Given the description of an element on the screen output the (x, y) to click on. 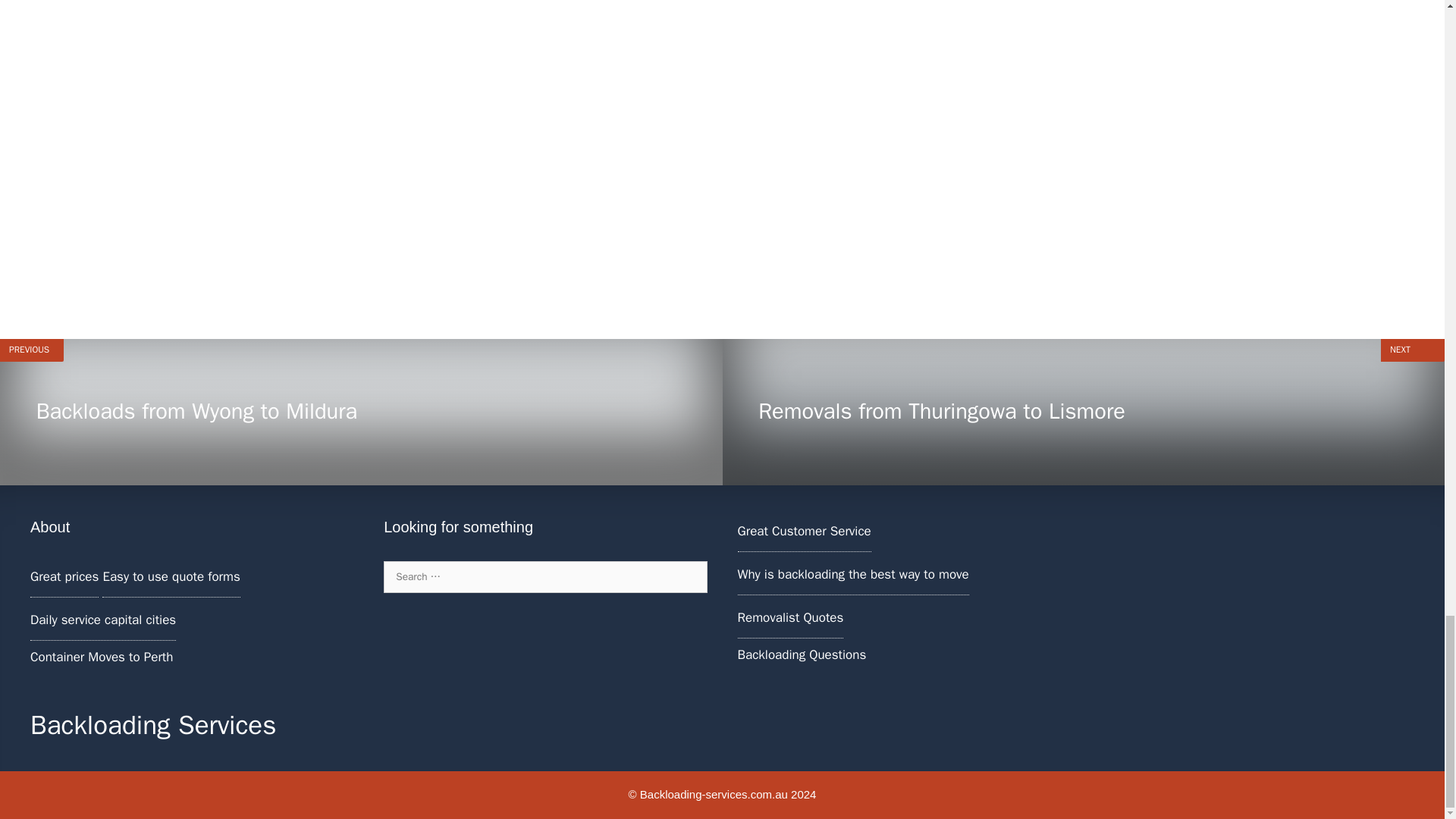
Search for: (545, 576)
Removalist Quotes (361, 412)
Why is backloading the best way to move (789, 617)
Great Customer Service (852, 574)
Backloading Questions (803, 530)
